Given the description of an element on the screen output the (x, y) to click on. 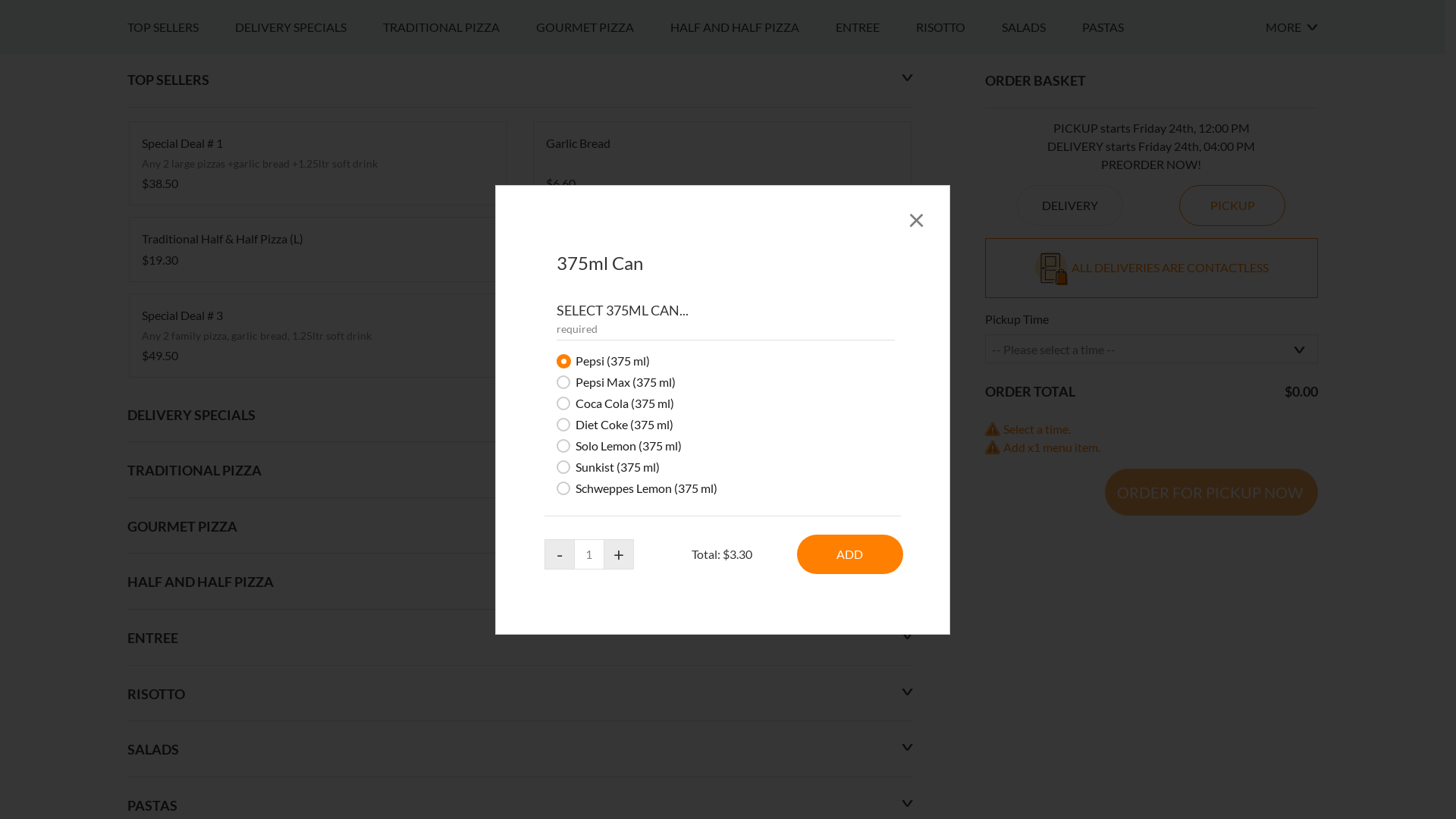
Chips
$11.00 Element type: text (722, 636)
PICKUP Element type: text (1232, 592)
Garlic Bread
$6.60 Element type: text (722, 550)
Traditional Half & Half Pizza (L)
$19.30 Element type: text (317, 636)
DELIVERY SPECIALS Element type: text (308, 414)
502129 Element type: text (4, 392)
TOP SELLERS Element type: text (181, 414)
Chips
$11.00 Element type: text (722, 636)
HALF AND HALF PIZZA Element type: text (752, 414)
DELIVERY Element type: text (1069, 592)
TRADITIONAL PIZZA Element type: text (458, 414)
MORE Element type: text (1290, 414)
GOURMET PIZZA Element type: text (602, 414)
375ml Can
$3.30 Element type: text (722, 722)
Garlic Bread
$6.60 Element type: text (722, 550)
RISOTTO Element type: text (958, 414)
SALADS Element type: text (1041, 414)
Traditional Half & Half Pizza (L)
$19.30 Element type: text (317, 636)
PASTAS Element type: text (1120, 414)
375ml Can
$3.30 Element type: text (722, 722)
ENTREE Element type: text (875, 414)
